Given the description of an element on the screen output the (x, y) to click on. 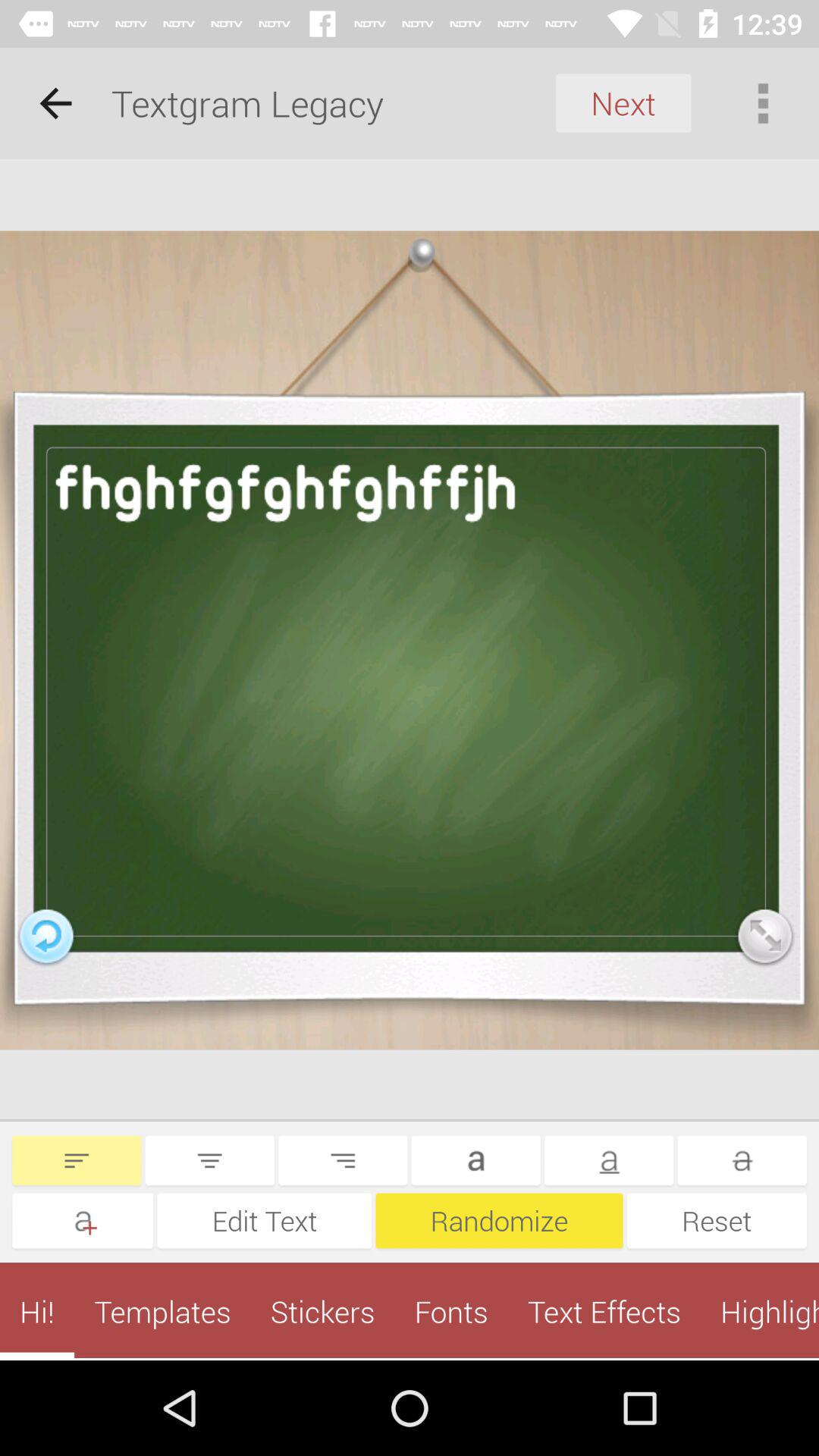
turn on the icon to the right of templates app (322, 1311)
